Given the description of an element on the screen output the (x, y) to click on. 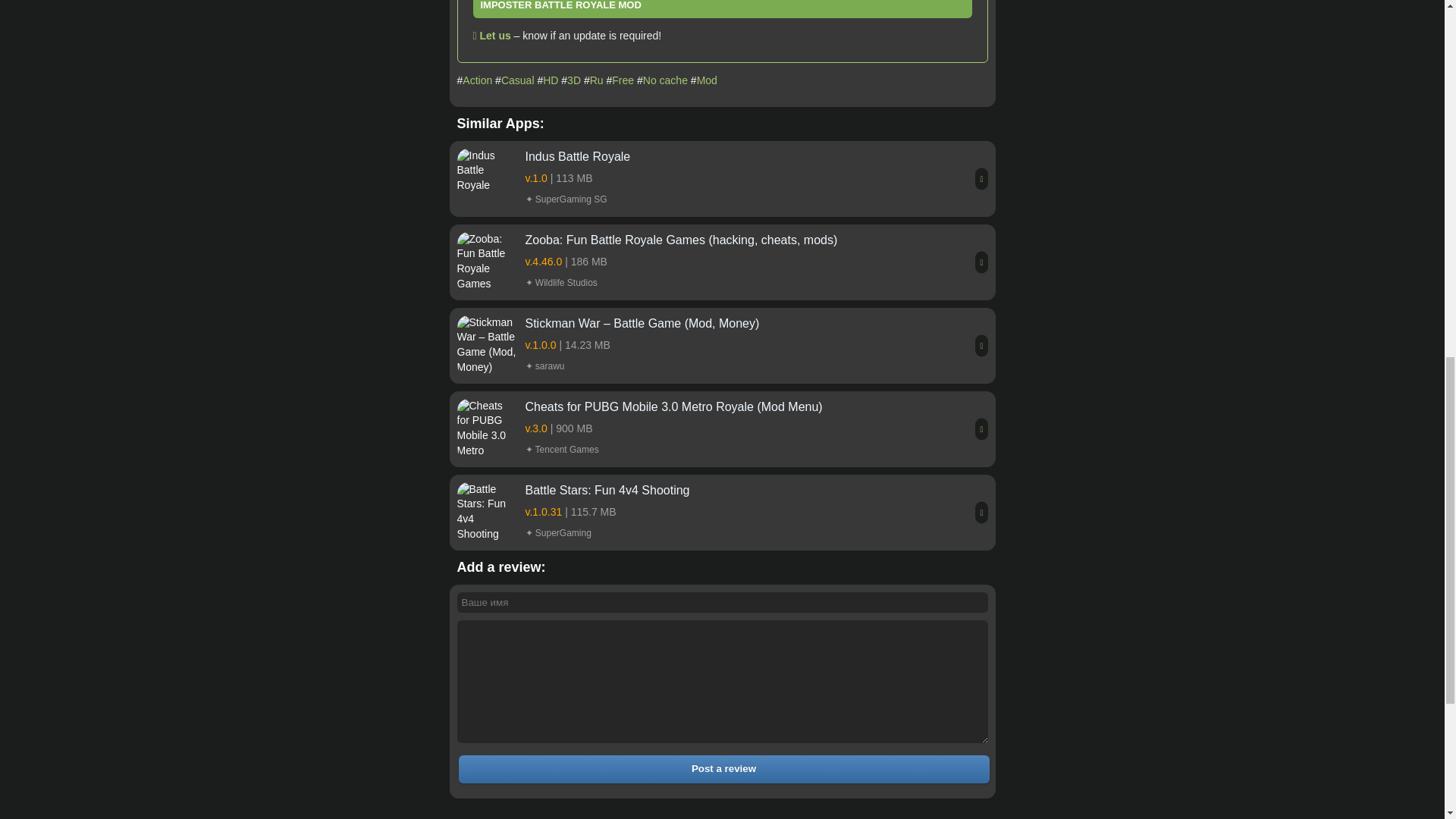
Ru (596, 80)
IMPOSTER BATTLE ROYALE MOD (722, 9)
Action (477, 80)
Free (622, 80)
Mod (707, 80)
Indus Battle Royale (721, 178)
No cache (665, 80)
3D (573, 80)
Post a review (723, 768)
Battle Stars: Fun 4v4 Shooting (721, 512)
